Given the description of an element on the screen output the (x, y) to click on. 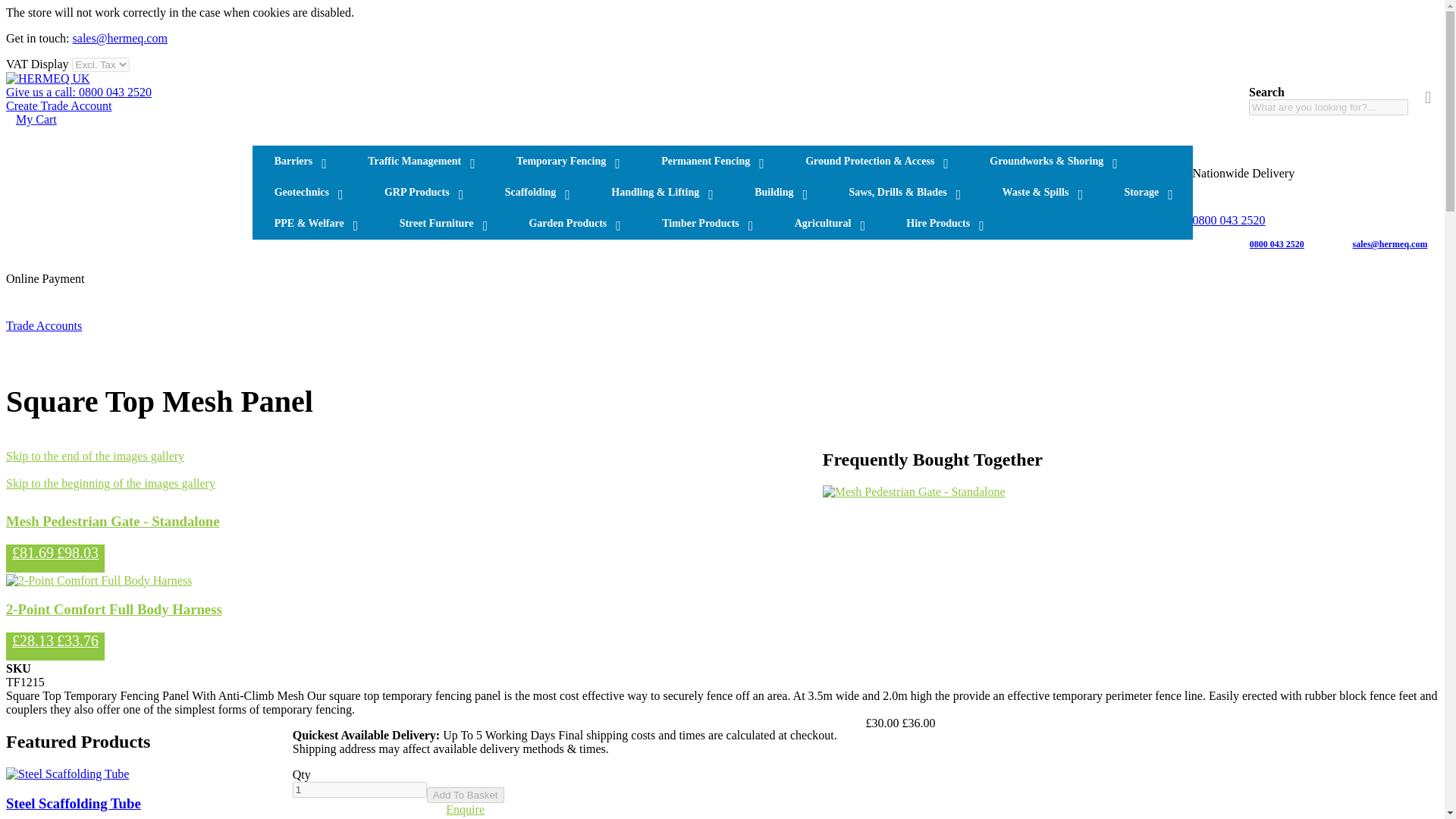
HERMEQ UK (47, 78)
My Cart (36, 119)
Give us a call: 0800 043 2520 (78, 91)
1 (359, 789)
Traffic Management (420, 160)
HERMEQ UK (47, 78)
Barriers (298, 160)
Create Trade Account (58, 105)
